Given the description of an element on the screen output the (x, y) to click on. 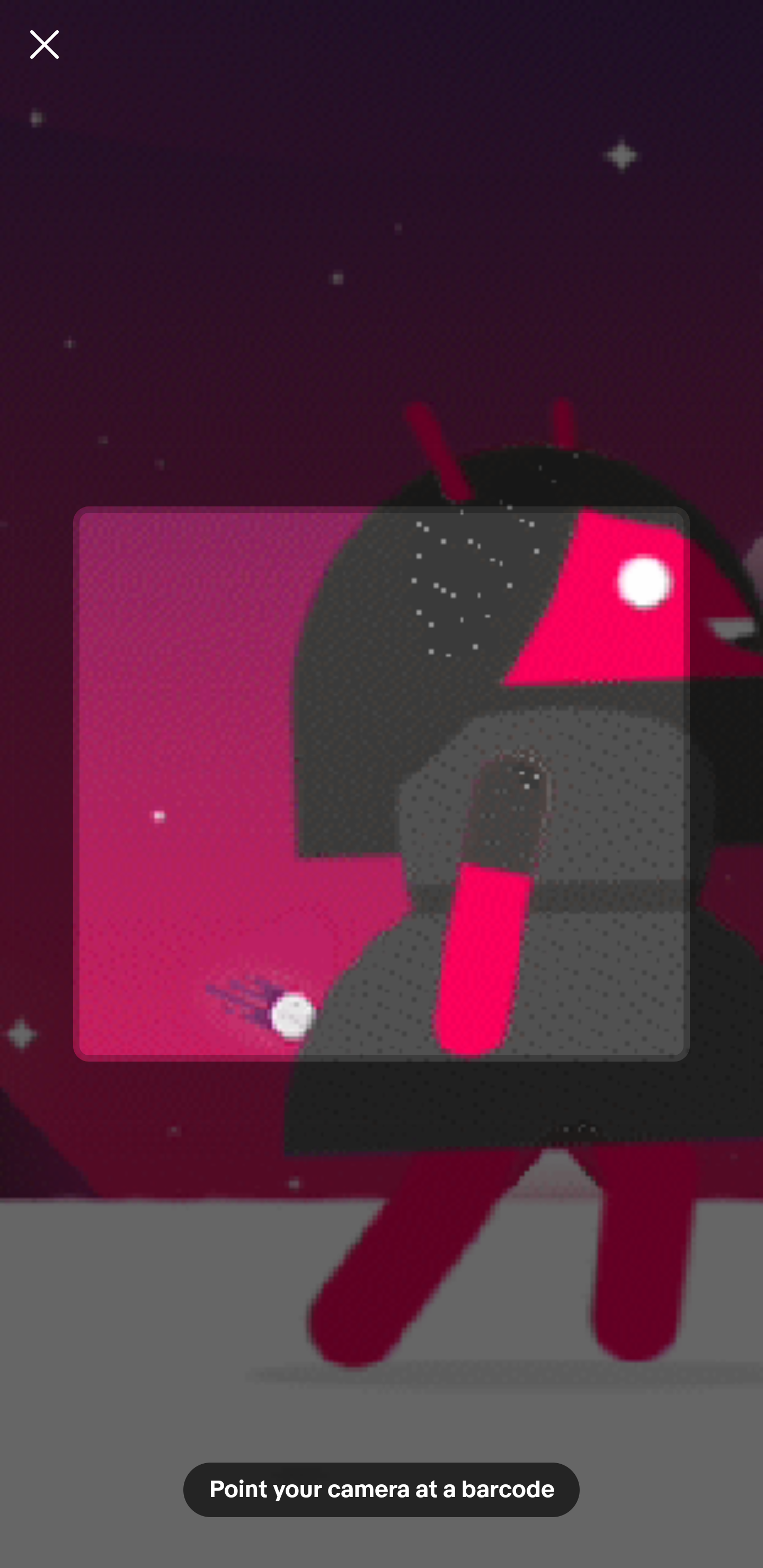
Close (44, 44)
